Given the description of an element on the screen output the (x, y) to click on. 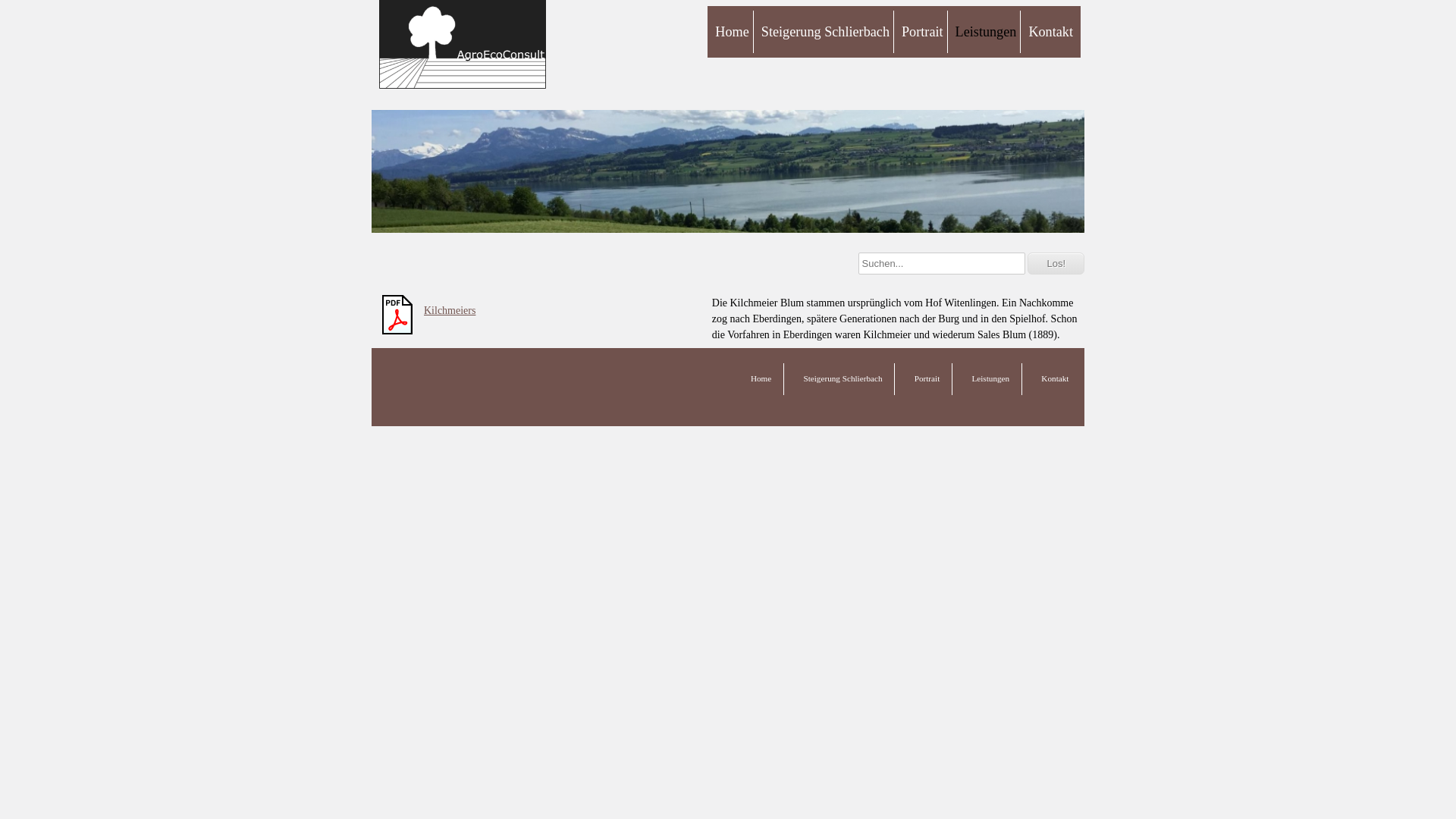
Kilchmeiers Element type: text (449, 310)
Kontakt Element type: text (1049, 31)
Portrait Element type: text (921, 31)
Leistungen Element type: text (985, 31)
Home Element type: text (760, 378)
Home Element type: text (731, 31)
Kontakt Element type: text (1054, 378)
Steigerung Schlierbach Element type: text (825, 31)
Los! Element type: text (1055, 263)
Portrait Element type: text (926, 378)
Steigerung Schlierbach Element type: text (842, 378)
Leistungen Element type: text (989, 378)
